Given the description of an element on the screen output the (x, y) to click on. 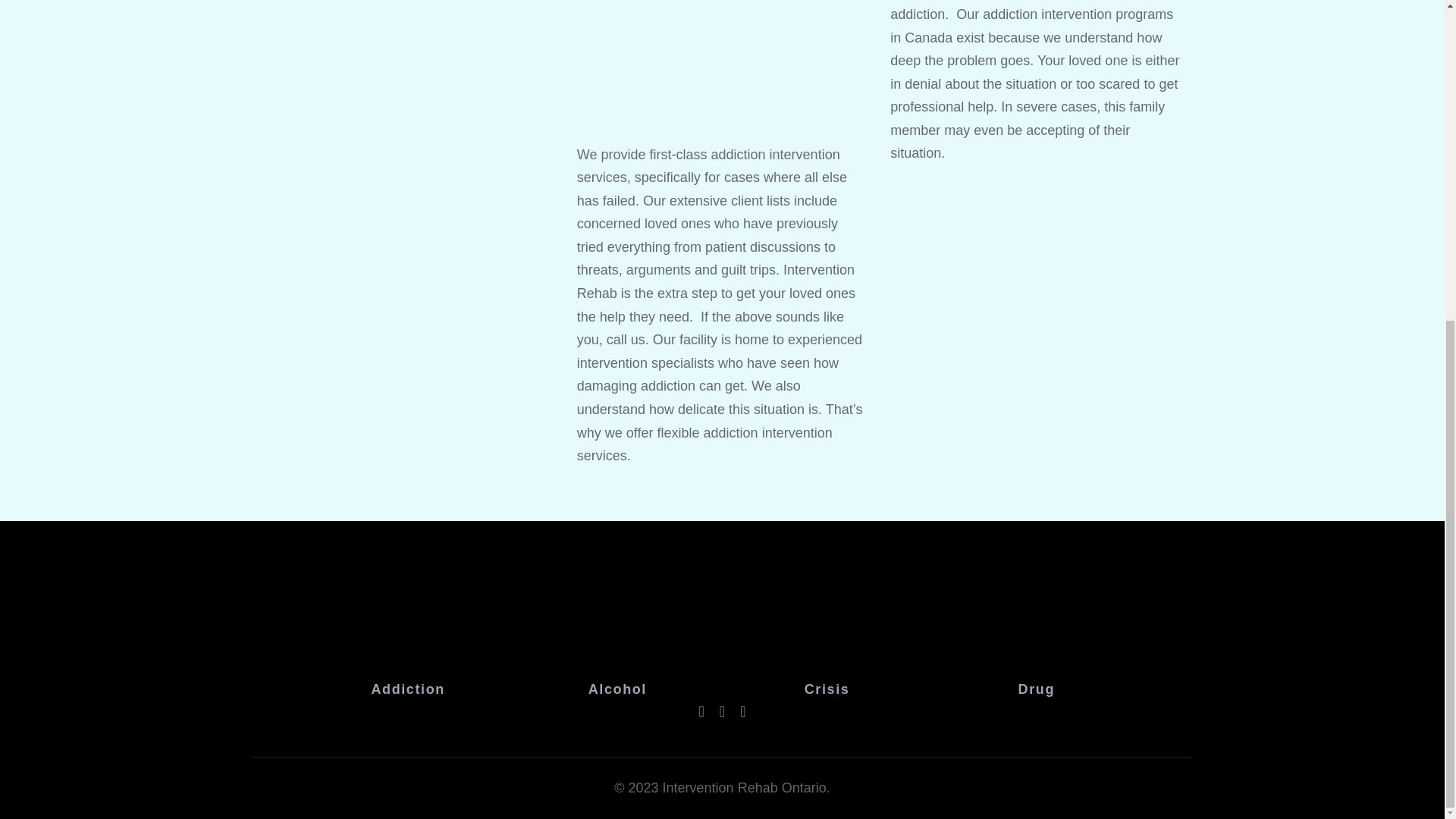
Crisis (827, 692)
Addiction (407, 692)
Alcohol (617, 692)
Drug (1035, 692)
